Given the description of an element on the screen output the (x, y) to click on. 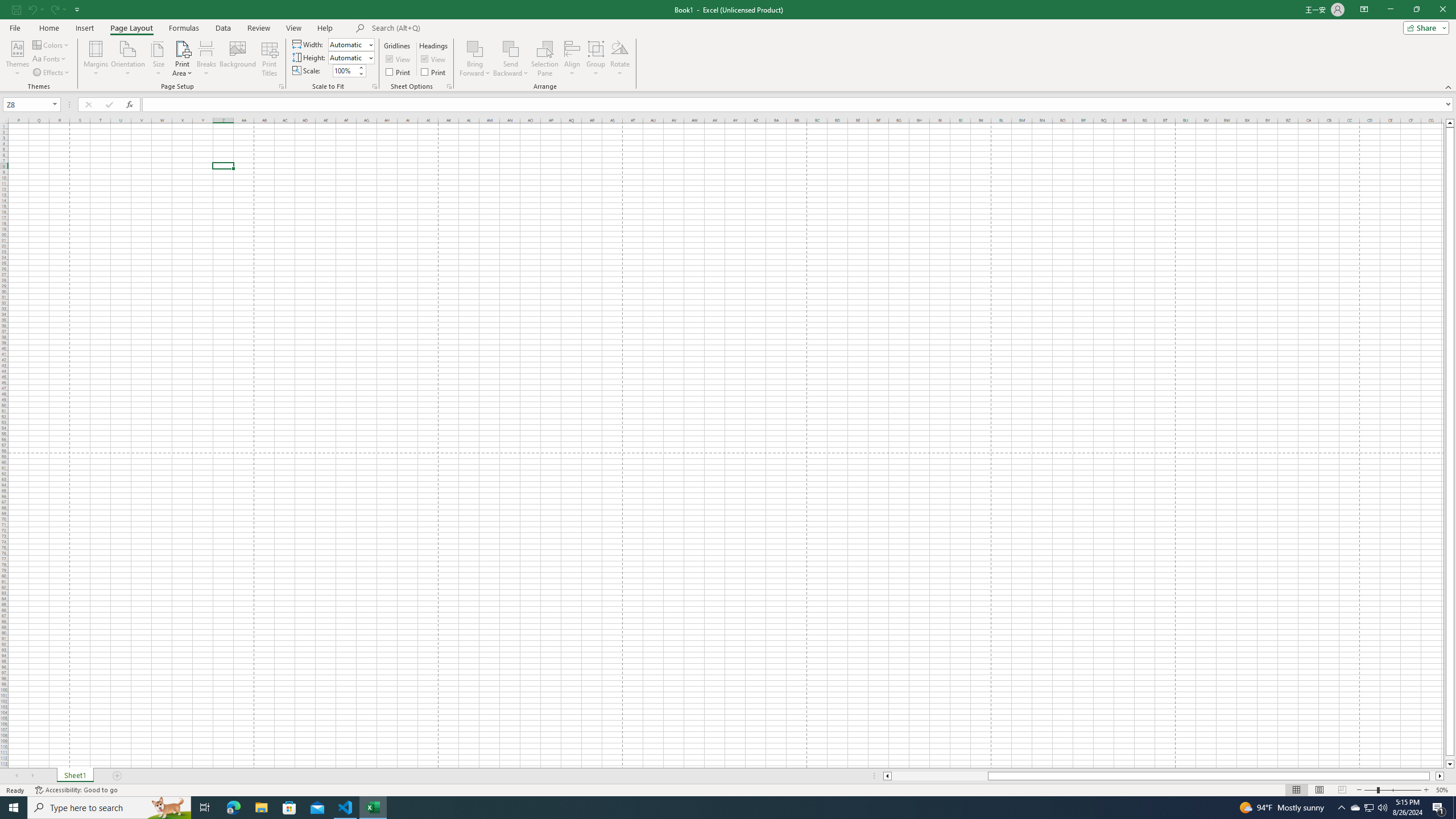
Bring Forward (475, 48)
Page left (939, 775)
Colors (51, 44)
Rotate (619, 58)
Background... (237, 58)
